Given the description of an element on the screen output the (x, y) to click on. 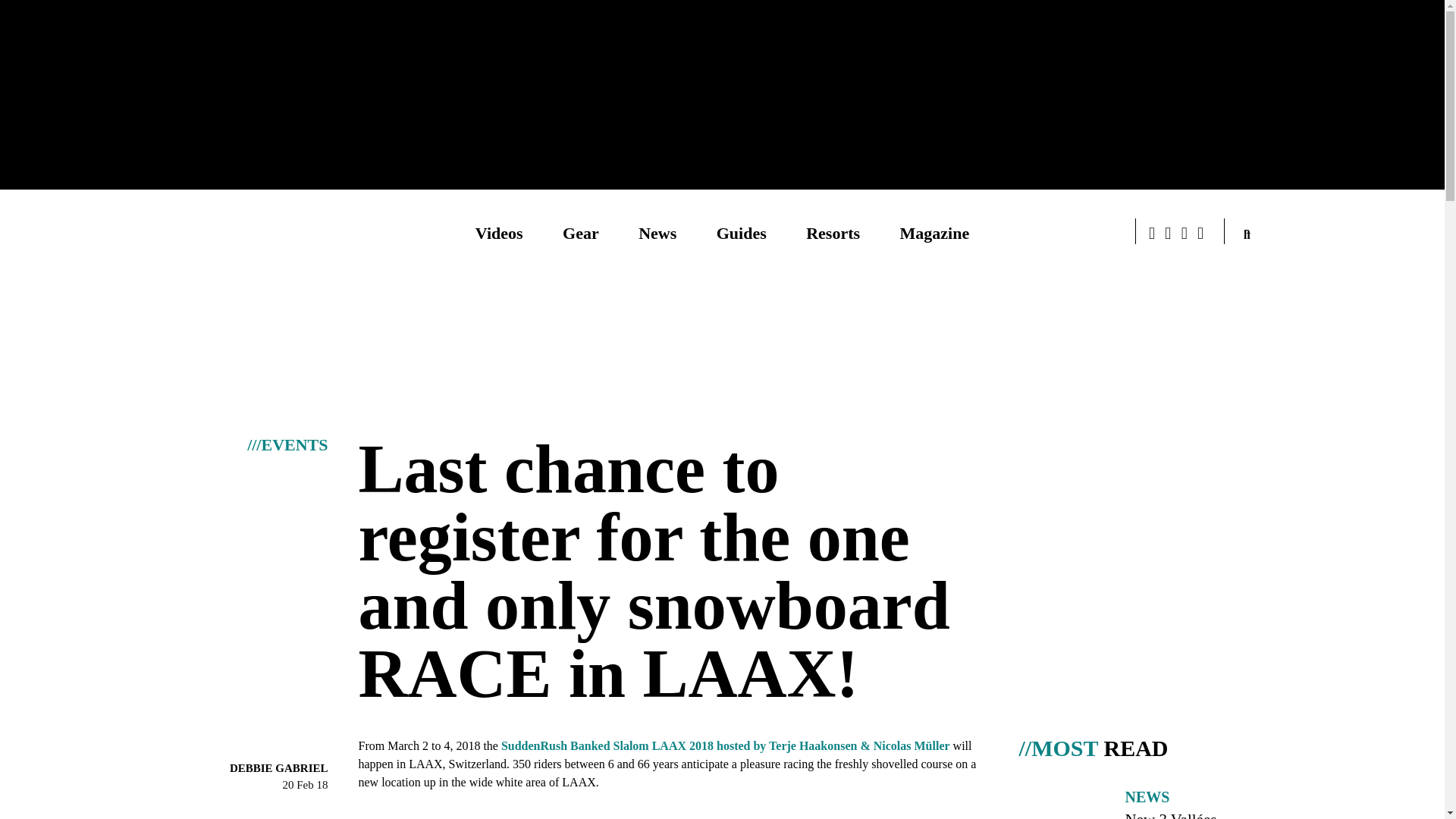
Logo (221, 233)
Gear (580, 232)
Guides (741, 232)
Videos (499, 232)
Resorts (833, 232)
News (658, 232)
